Given the description of an element on the screen output the (x, y) to click on. 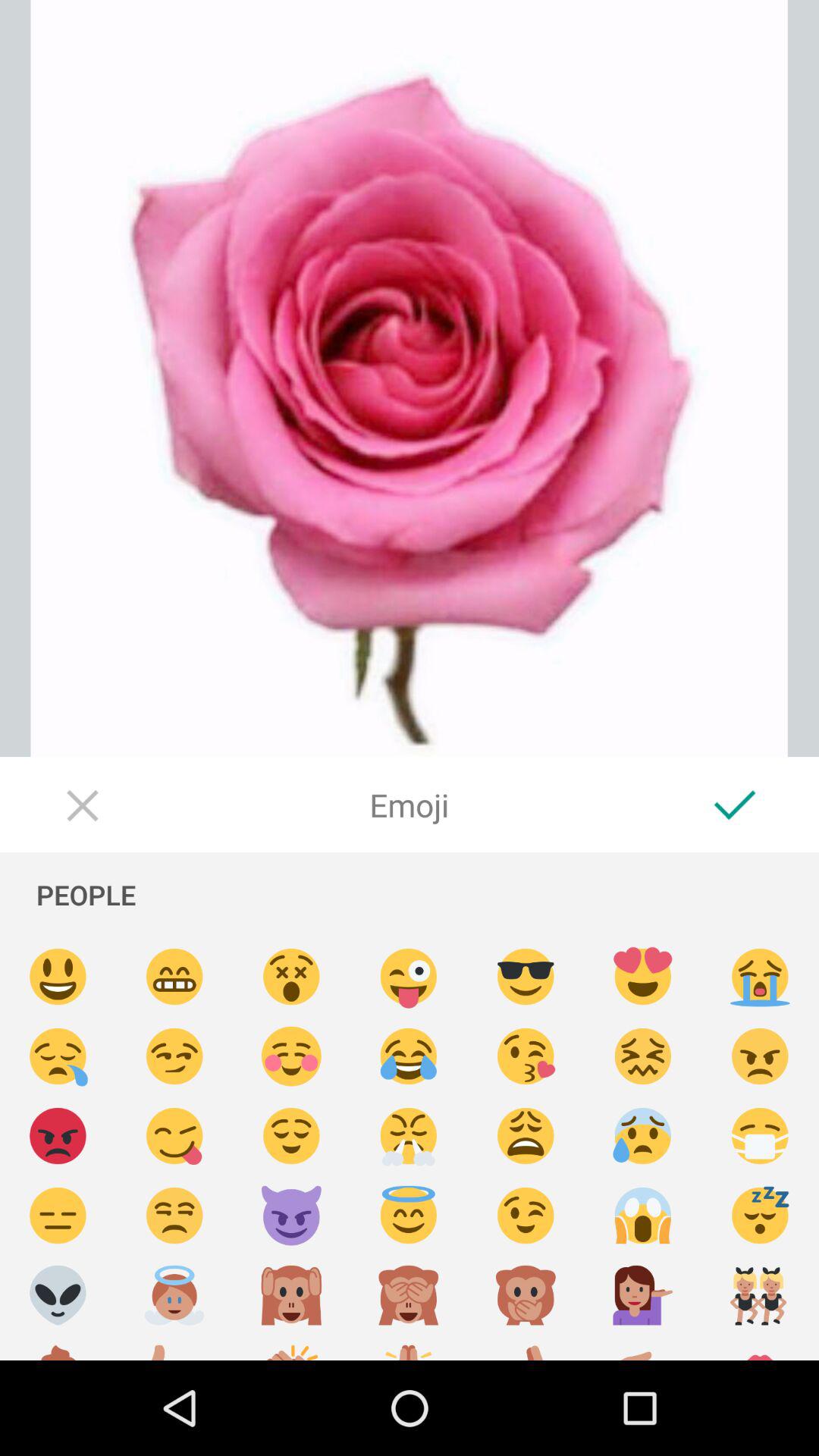
emoji select option (642, 1136)
